Given the description of an element on the screen output the (x, y) to click on. 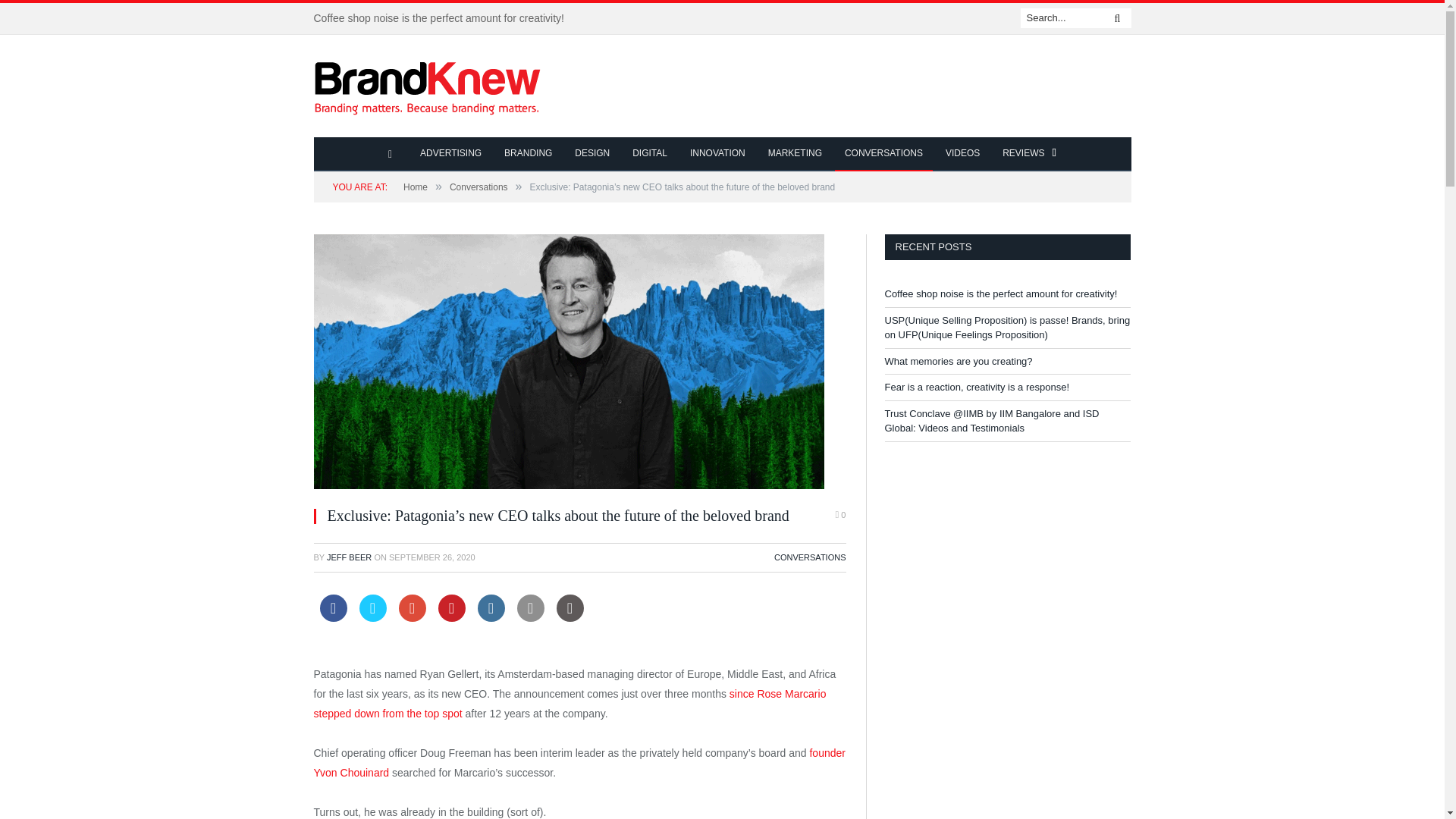
founder Yvon Chouinard (579, 762)
Posts by Jeff Beer (348, 556)
Coffee shop noise is the perfect amount for creativity! (443, 18)
JEFF BEER (348, 556)
Coffee shop noise is the perfect amount for creativity! (443, 18)
BRANDING (528, 154)
ADVERTISING (451, 154)
INNOVATION (717, 154)
VIDEOS (963, 154)
